Given the description of an element on the screen output the (x, y) to click on. 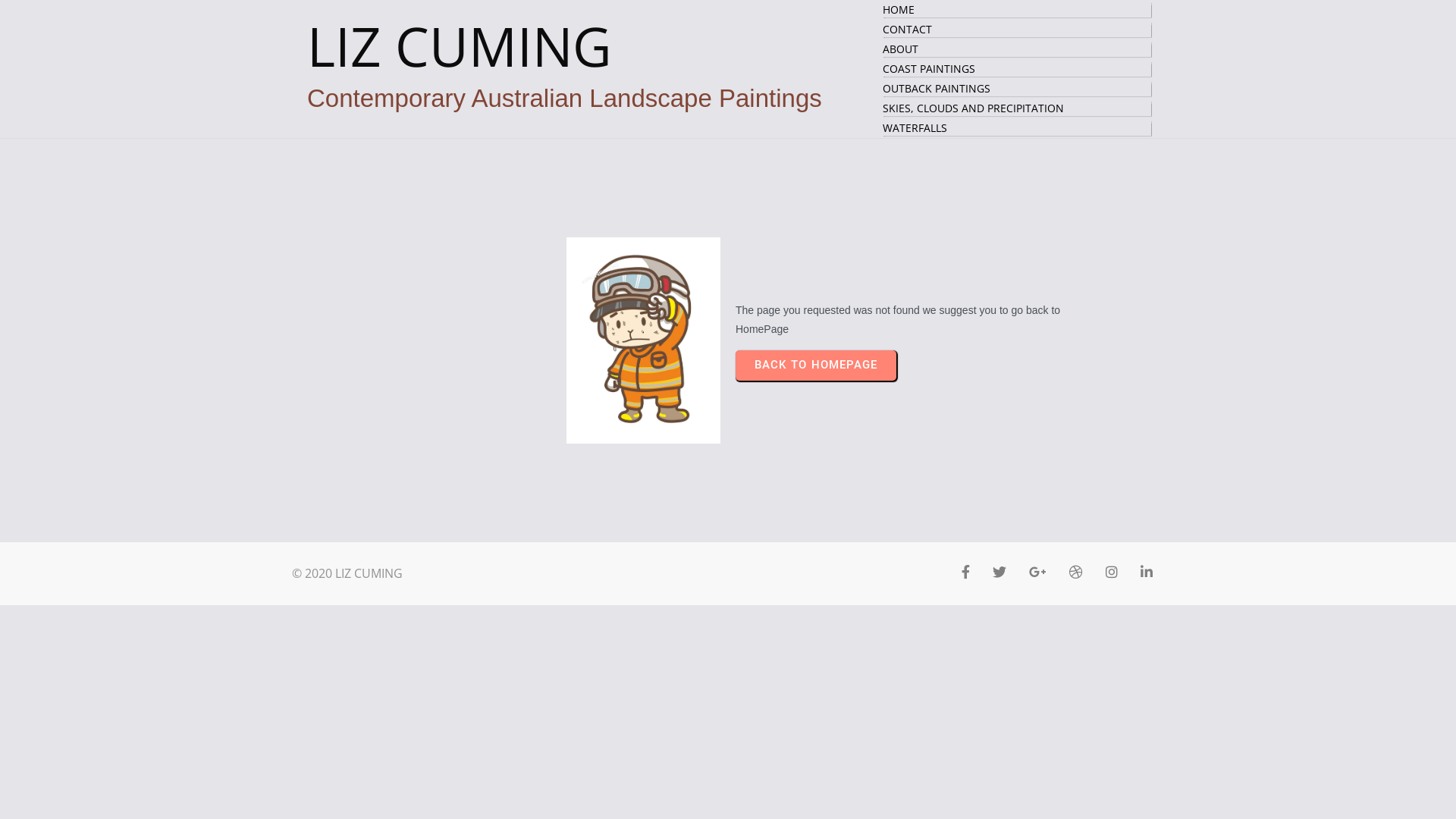
BACK TO HOMEPAGE Element type: text (815, 365)
OUTBACK PAINTINGS Element type: text (1016, 88)
CONTACT Element type: text (1016, 29)
COAST PAINTINGS Element type: text (1016, 68)
SKIES, CLOUDS AND PRECIPITATION Element type: text (1016, 108)
HOME Element type: text (1016, 9)
WATERFALLS Element type: text (1016, 127)
LIZ CUMING
Contemporary Australian Landscape Paintings Element type: text (598, 67)
ABOUT Element type: text (1016, 48)
